Given the description of an element on the screen output the (x, y) to click on. 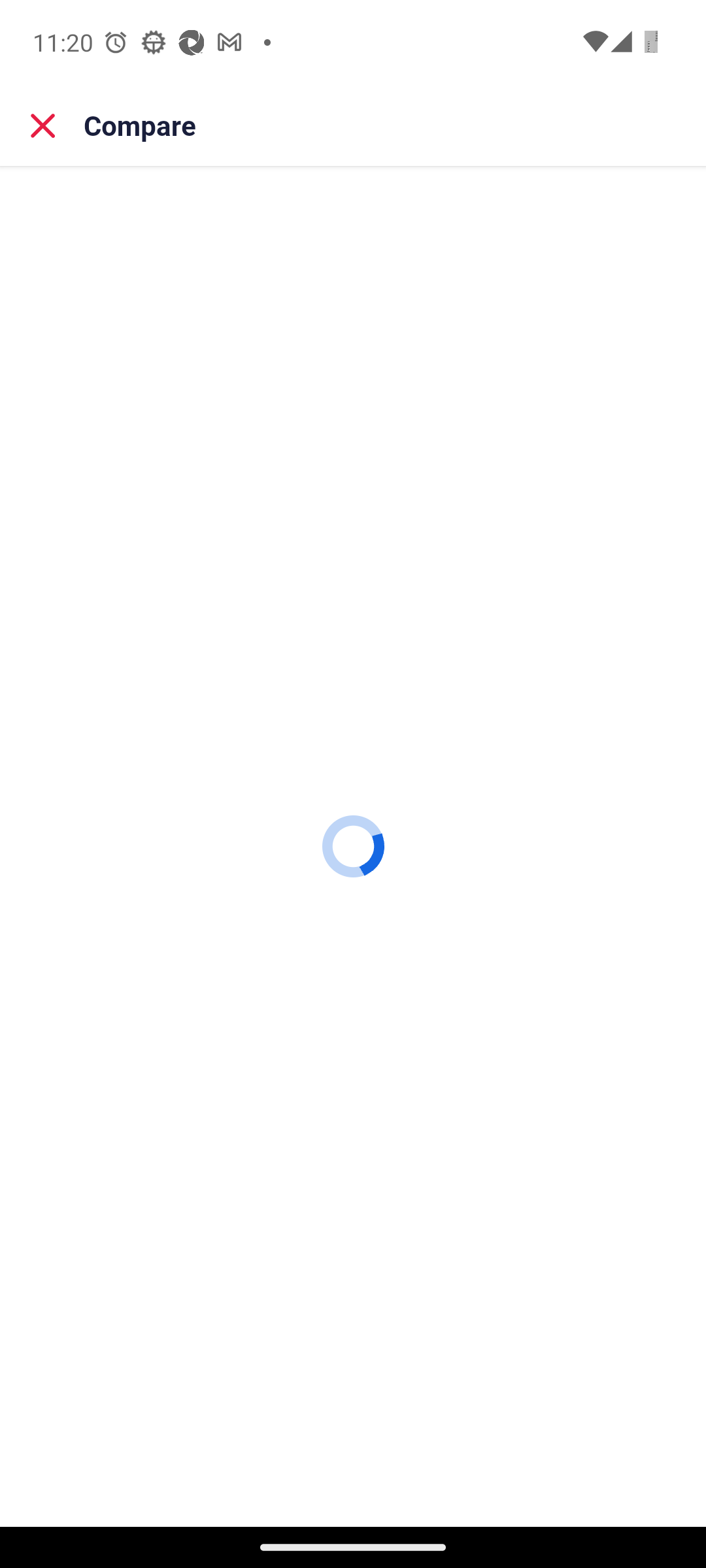
Close, back to property search. (43, 125)
